Given the description of an element on the screen output the (x, y) to click on. 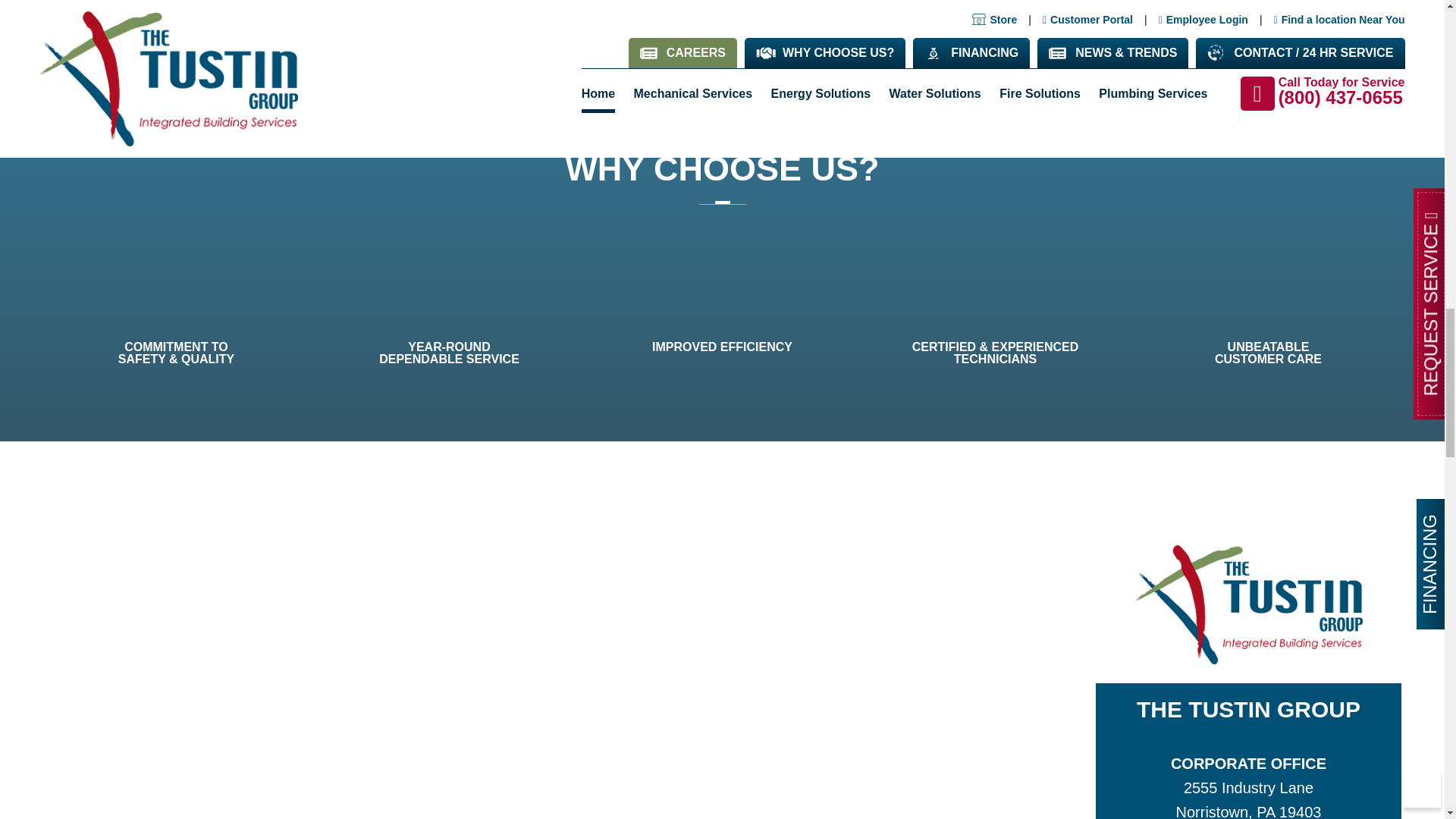
The Tustin Group (1247, 604)
